Given the description of an element on the screen output the (x, y) to click on. 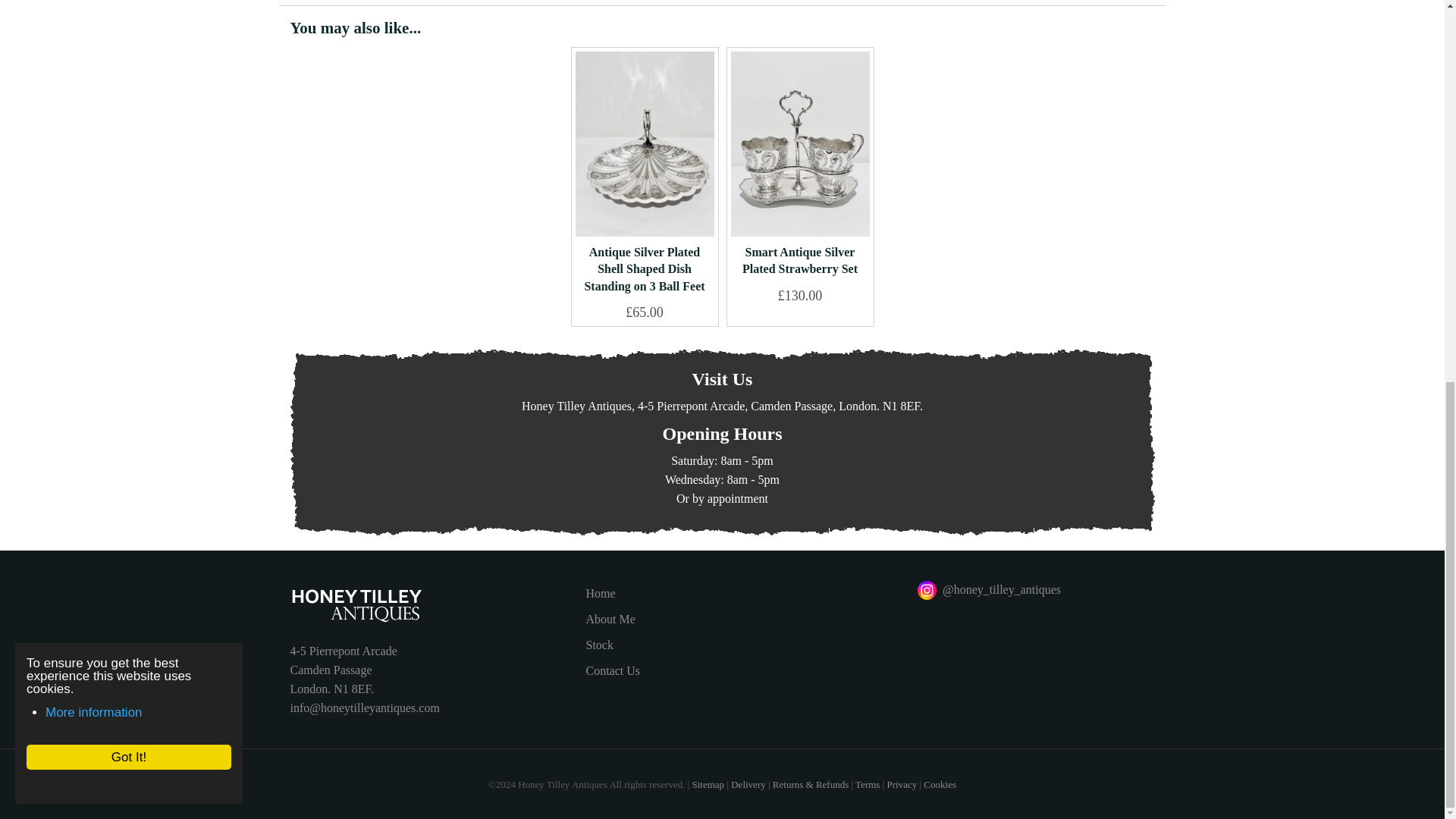
Got It! (113, 42)
More information (79, 2)
Honey Tilley Antiques (425, 604)
Smart Antique Silver Plated Strawberry Set (799, 143)
